Given the description of an element on the screen output the (x, y) to click on. 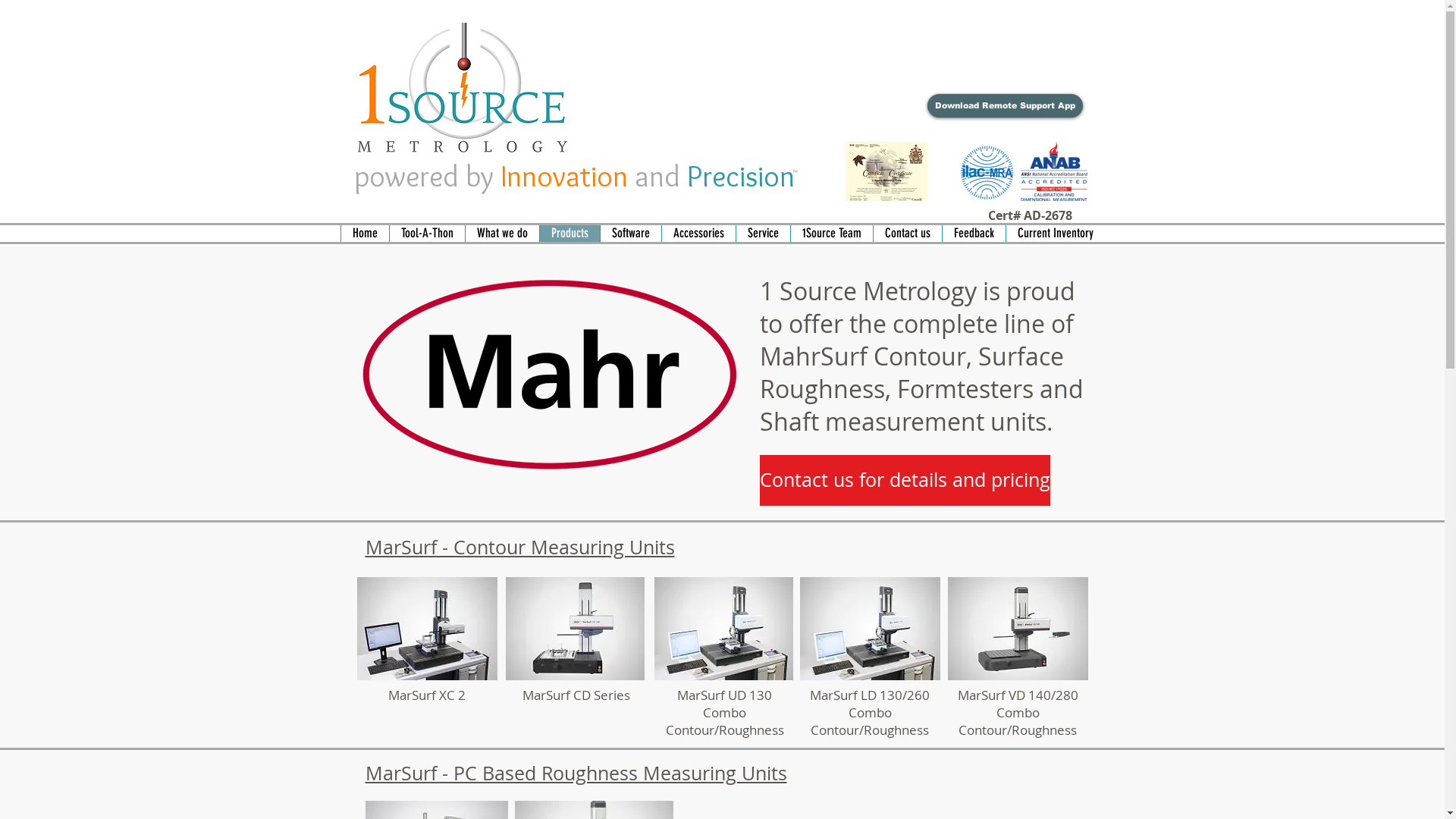
Contact us for details and pricing Element type: text (904, 480)
Products Element type: text (568, 232)
Service Element type: text (762, 232)
Download Remote Support App Element type: text (1004, 105)
Home Element type: text (363, 232)
Accessories Element type: text (698, 232)
What we do Element type: text (501, 232)
1Source Team Element type: text (831, 232)
Tool-A-Thon Element type: text (426, 232)
Contact us Element type: text (906, 232)
Current Inventory Element type: text (1054, 232)
Software Element type: text (629, 232)
Feedback Element type: text (973, 232)
